Given the description of an element on the screen output the (x, y) to click on. 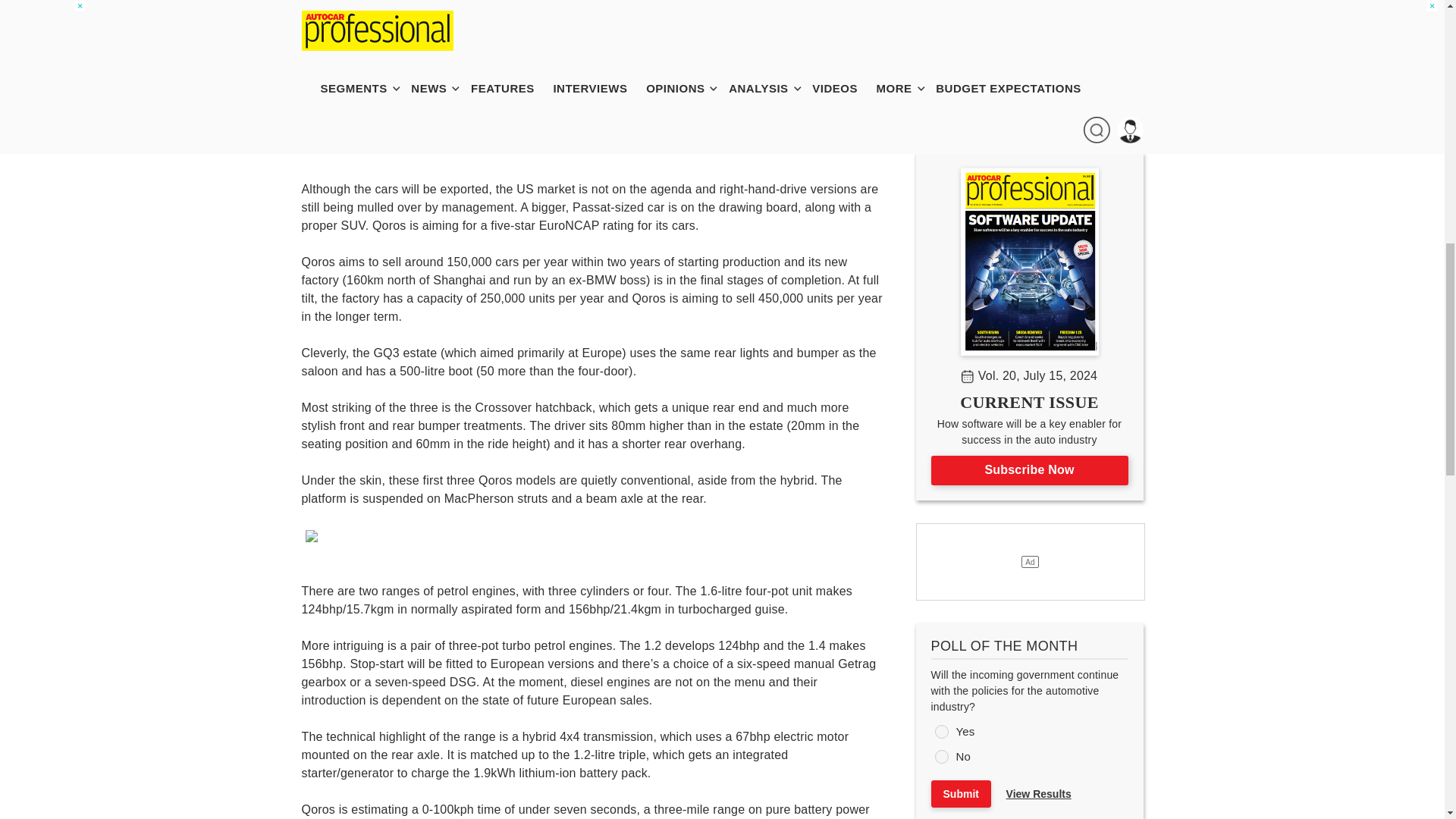
293 (940, 731)
294 (940, 756)
